Given the description of an element on the screen output the (x, y) to click on. 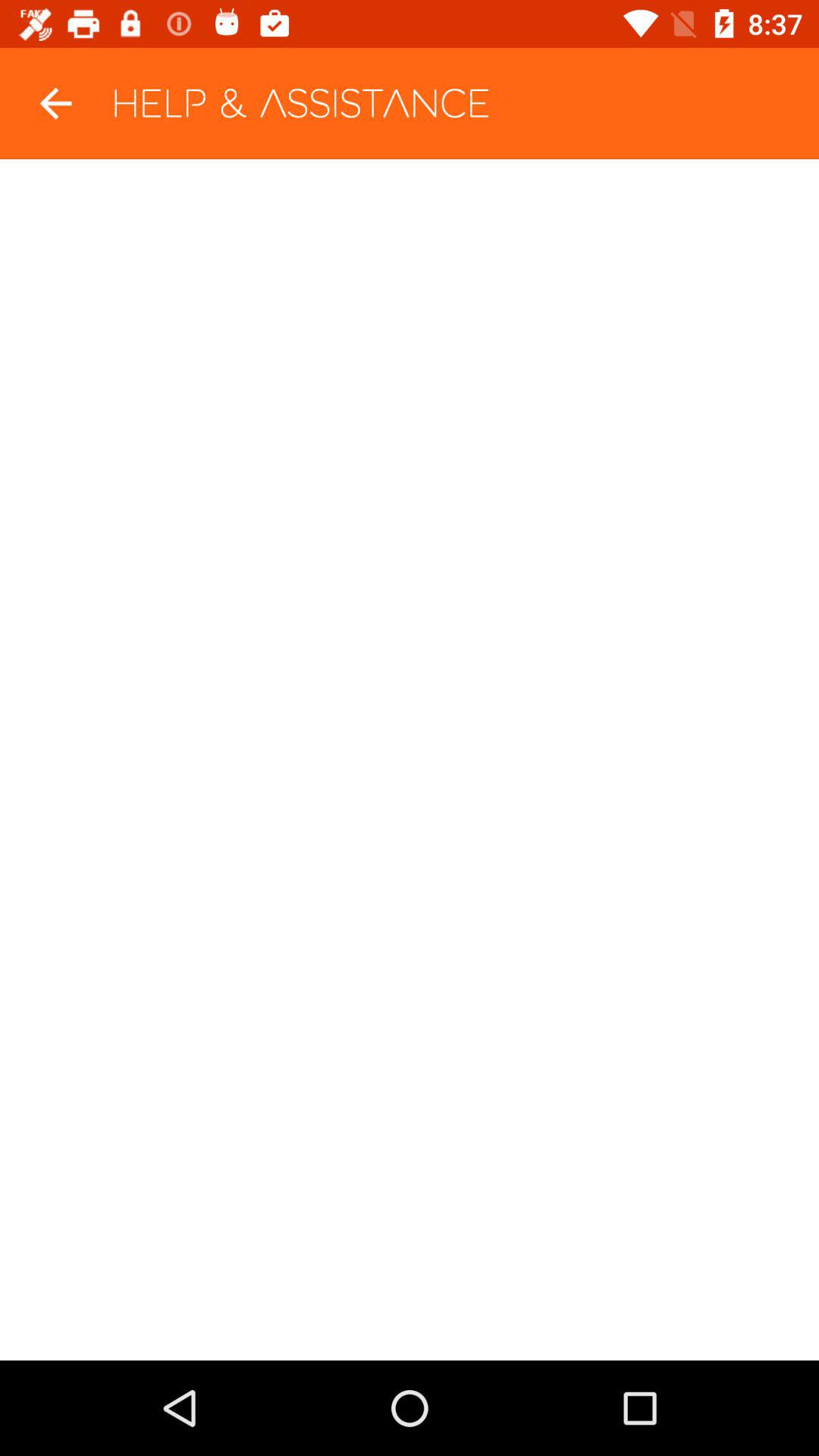
turn on the item at the top left corner (55, 103)
